Given the description of an element on the screen output the (x, y) to click on. 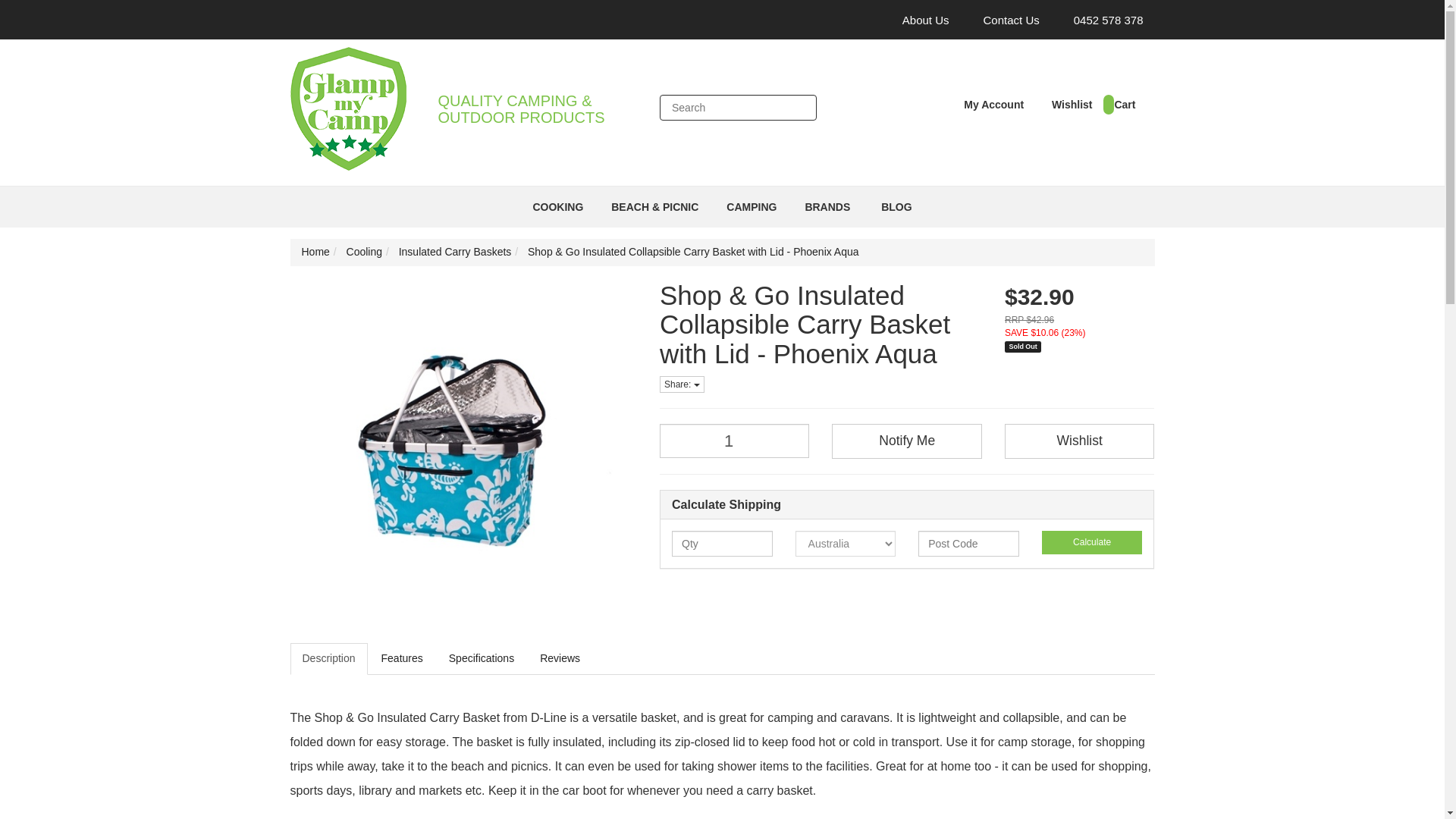
Calculate (1092, 542)
Glamp My Camp Pty Limited (347, 103)
0452 578 378 (1102, 19)
COOKING  (558, 207)
Search (799, 107)
My Account  (989, 104)
Contact Us (1005, 19)
Cart (1118, 104)
About Us (919, 19)
1 (734, 440)
Wishlist (1066, 104)
